Given the description of an element on the screen output the (x, y) to click on. 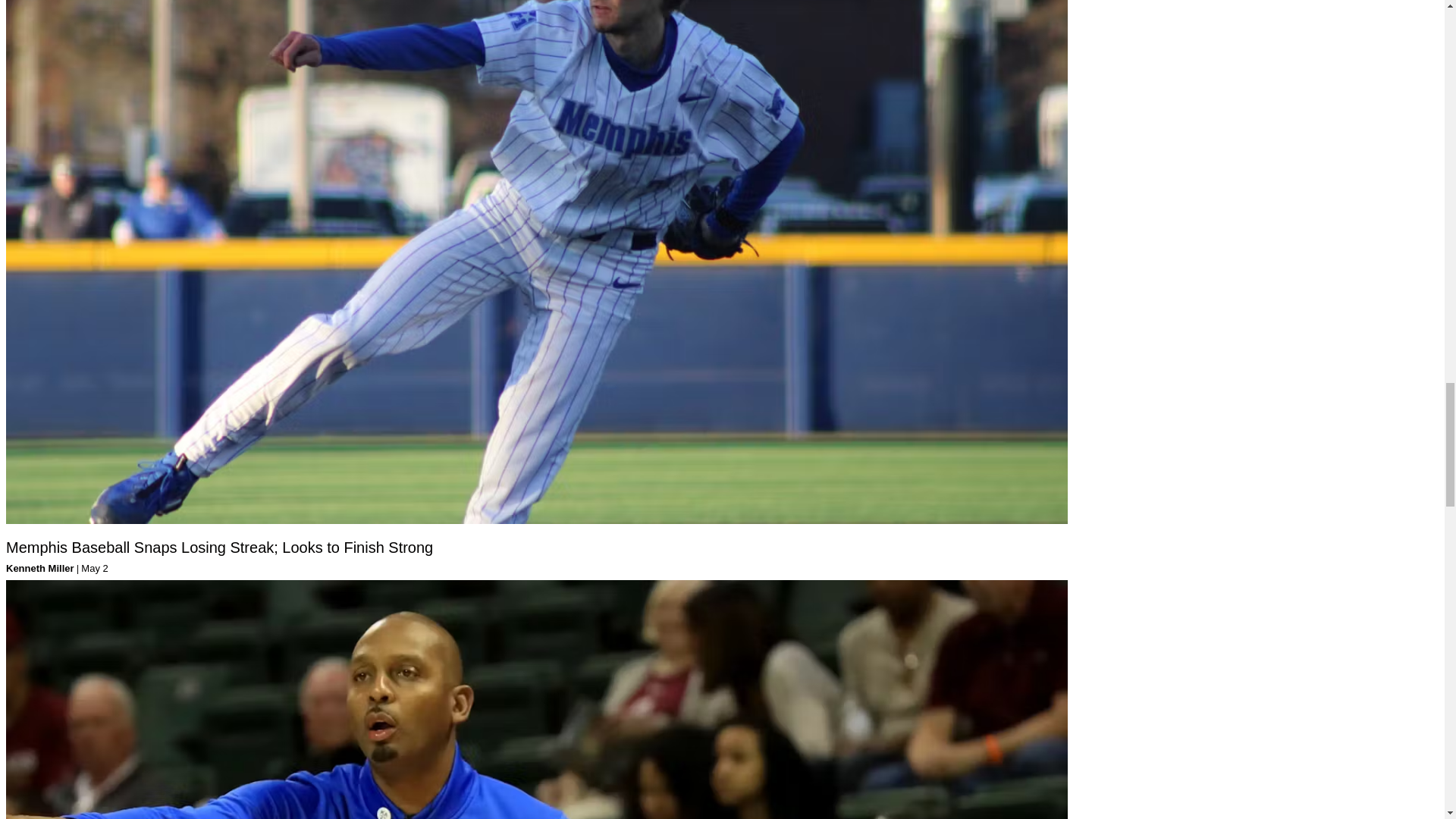
Kenneth Miller (39, 568)
Memphis Baseball Snaps Losing Streak; Looks to Finish Strong (218, 547)
Memphis Baseball Snaps Losing Streak; Looks to Finish Strong (218, 547)
